Given the description of an element on the screen output the (x, y) to click on. 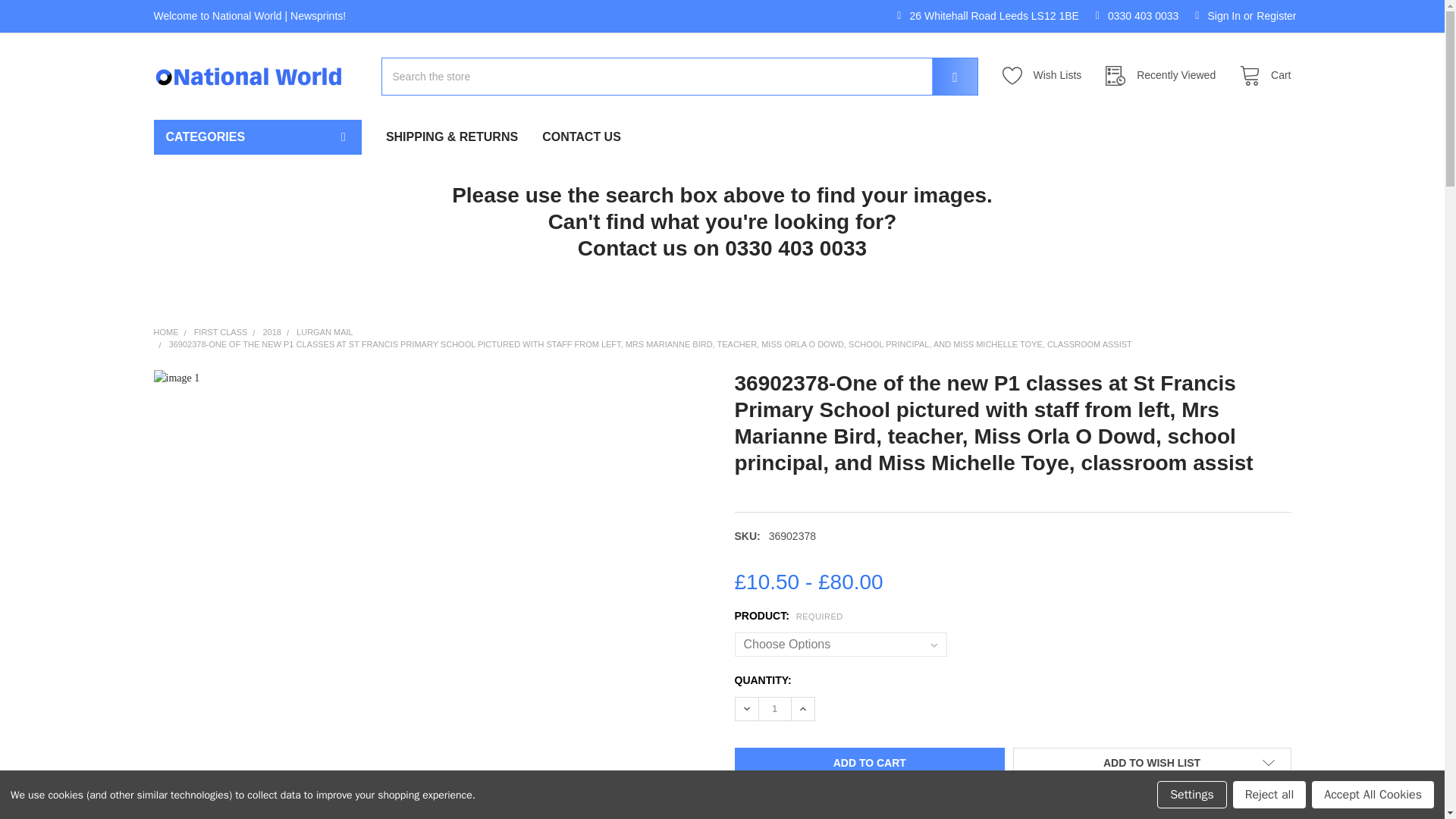
Register (1275, 16)
Search (945, 76)
1 (774, 708)
Cart (1260, 75)
Recently Viewed (1164, 75)
Recently Viewed (1164, 75)
Cart (1260, 75)
0330 403 0033 (1137, 16)
Add to Cart (868, 762)
